Given the description of an element on the screen output the (x, y) to click on. 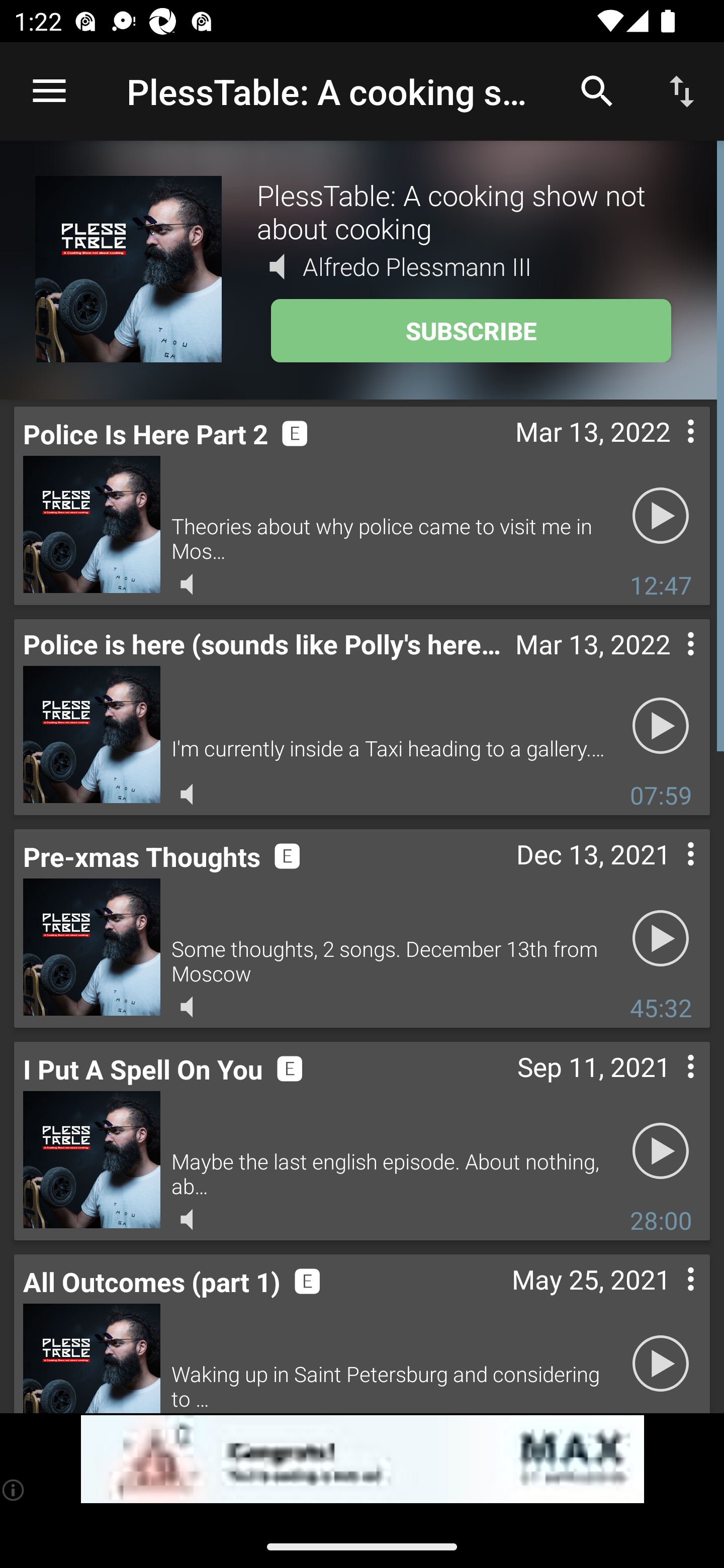
Open navigation sidebar (49, 91)
Search (597, 90)
Sort (681, 90)
SUBSCRIBE (470, 330)
Contextual menu (668, 451)
Play (660, 514)
Contextual menu (668, 663)
Play (660, 724)
Contextual menu (668, 873)
Play (660, 938)
Contextual menu (668, 1086)
Play (660, 1150)
Contextual menu (668, 1298)
Play (660, 1362)
app-monetization (362, 1459)
(i) (14, 1489)
